Given the description of an element on the screen output the (x, y) to click on. 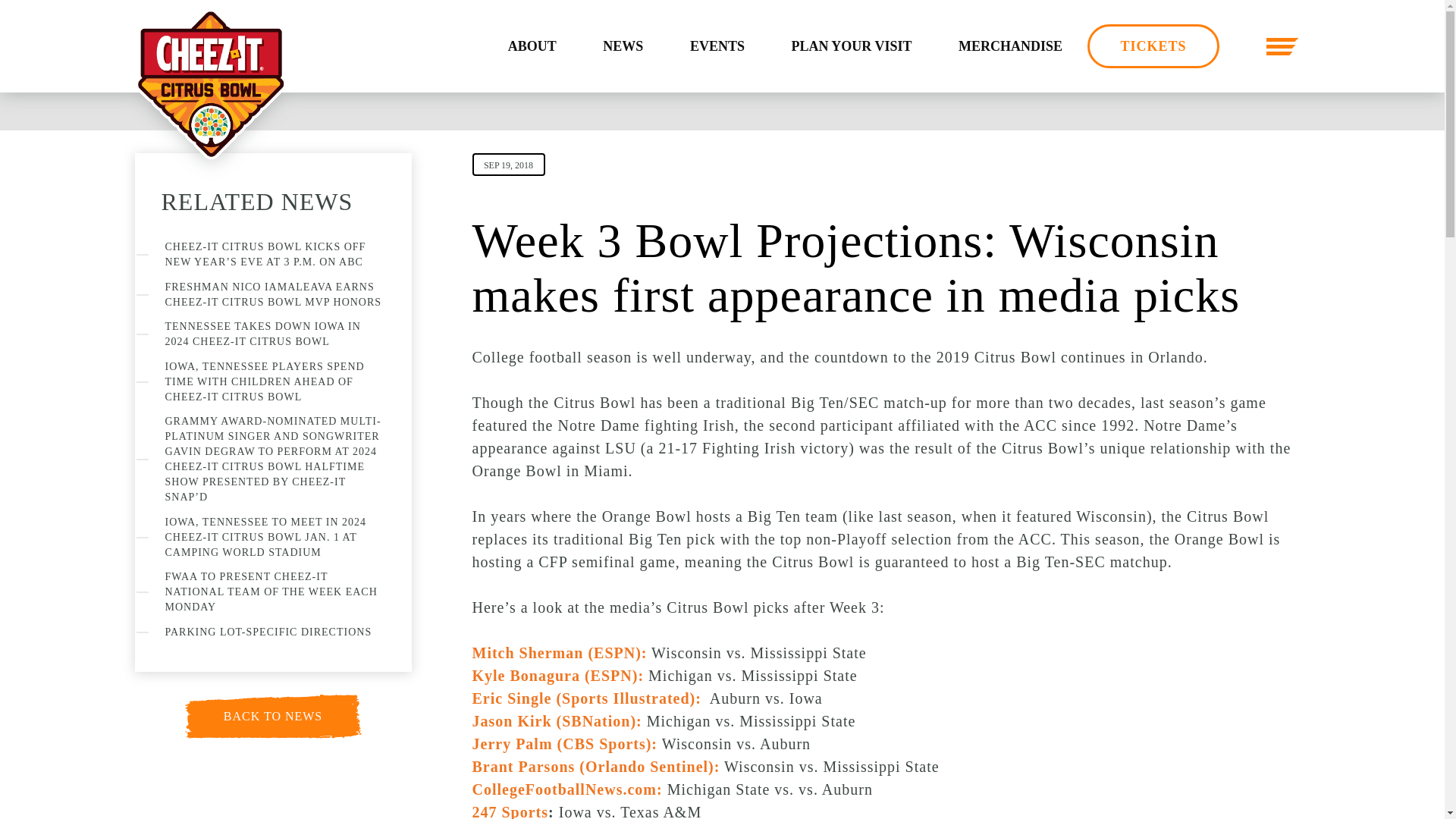
MERCHANDISE (1010, 46)
PLAN YOUR VISIT (851, 46)
NEWS (621, 46)
TICKETS (1152, 45)
EVENTS (716, 46)
ABOUT (532, 46)
SEP 19, 2018 (507, 164)
